Given the description of an element on the screen output the (x, y) to click on. 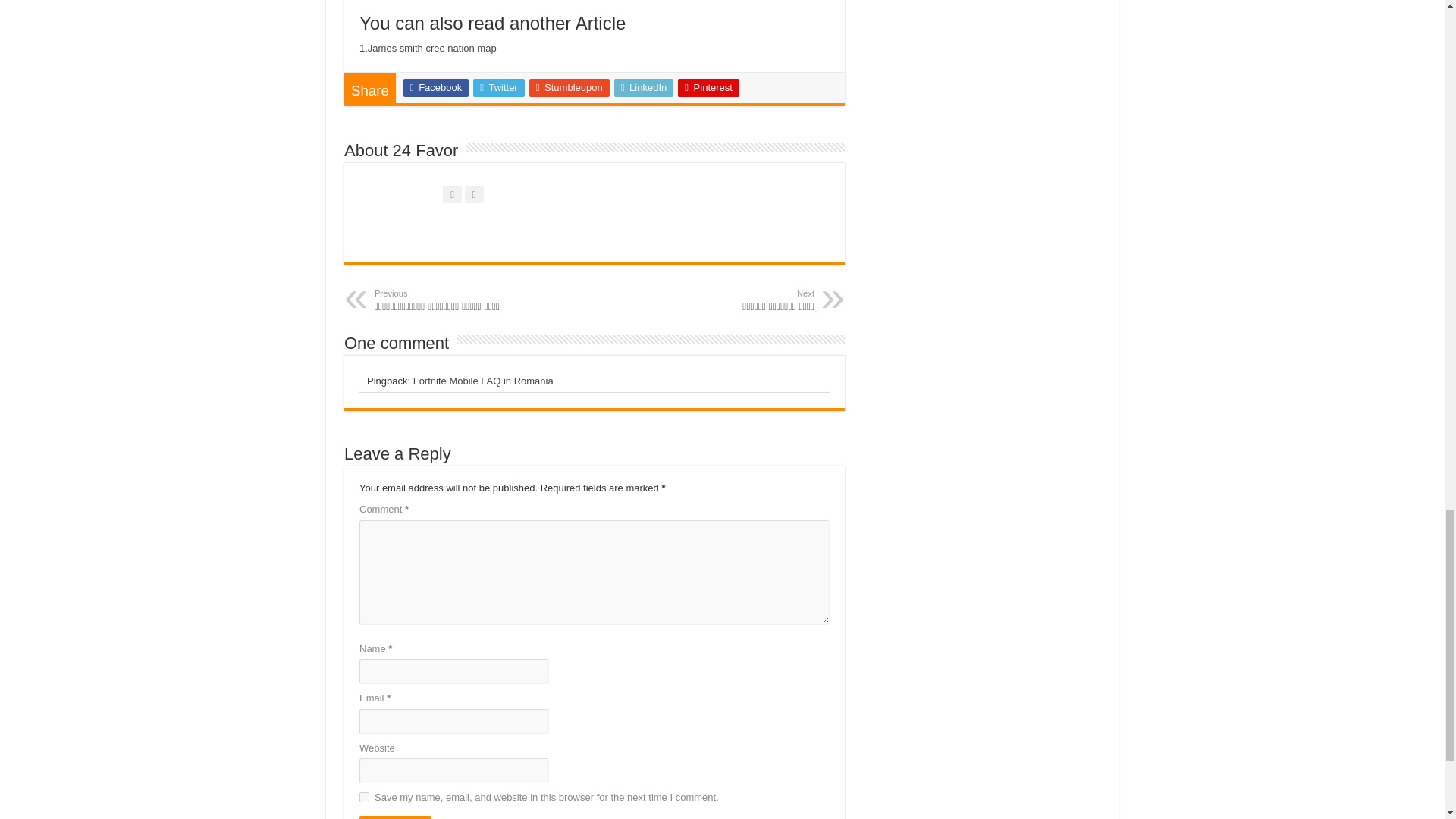
Post Comment (394, 817)
yes (364, 797)
